Given the description of an element on the screen output the (x, y) to click on. 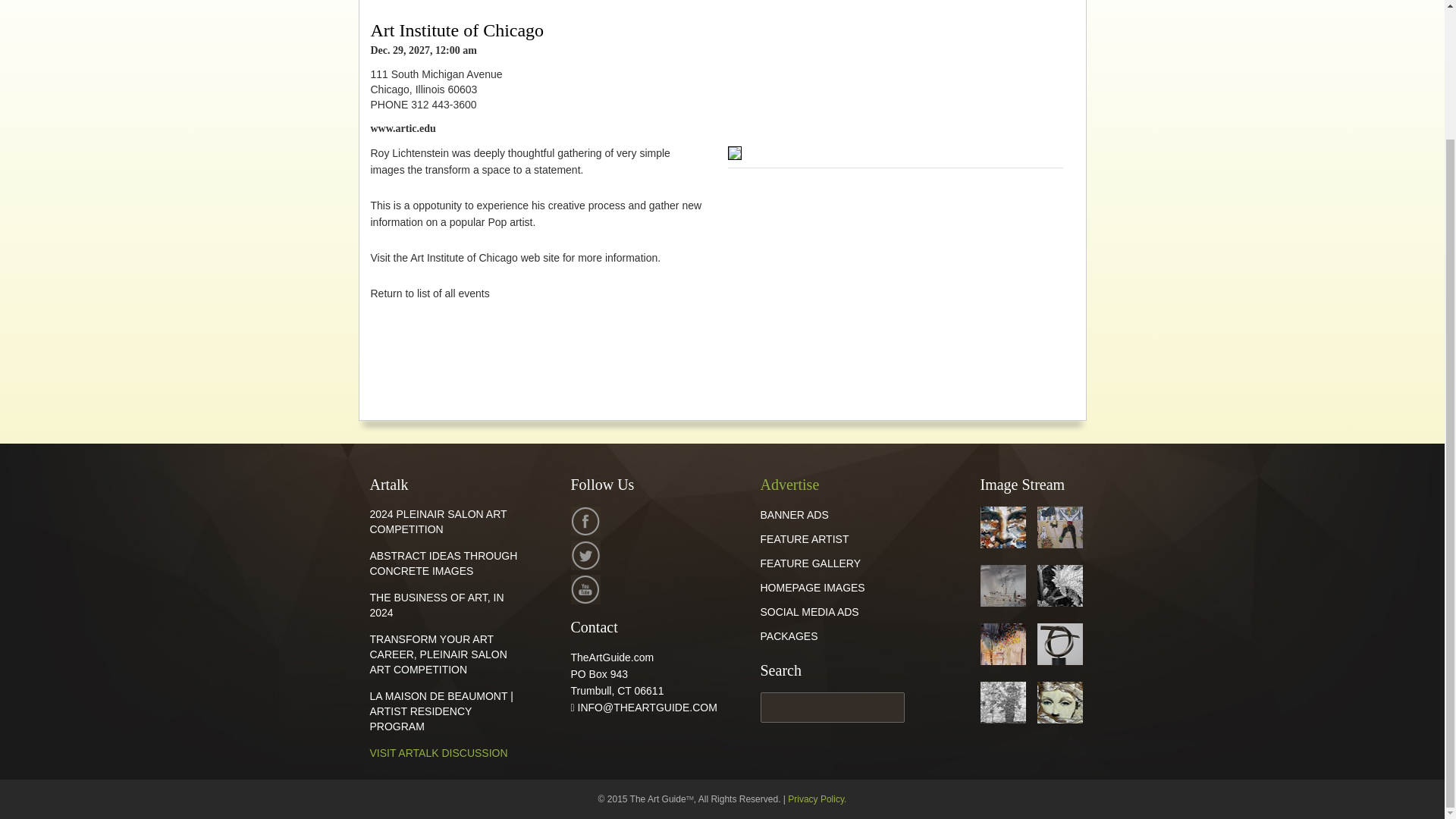
TRANSFORM YOUR ART CAREER, PLEINAIR SALON ART COMPETITION (437, 654)
THE BUSINESS OF ART, IN 2024 (436, 605)
FEATURE GALLERY (810, 563)
PACKAGES (788, 635)
ABSTRACT IDEAS THROUGH CONCRETE IMAGES (443, 563)
SOCIAL MEDIA ADS (809, 612)
FEATURE ARTIST (804, 539)
2024 PLEINAIR SALON ART COMPETITION (437, 521)
VISIT ARTALK DISCUSSION (438, 752)
HOMEPAGE IMAGES (812, 587)
BANNER ADS (794, 514)
Return to list of all events (429, 293)
www.artic.edu (402, 128)
